Given the description of an element on the screen output the (x, y) to click on. 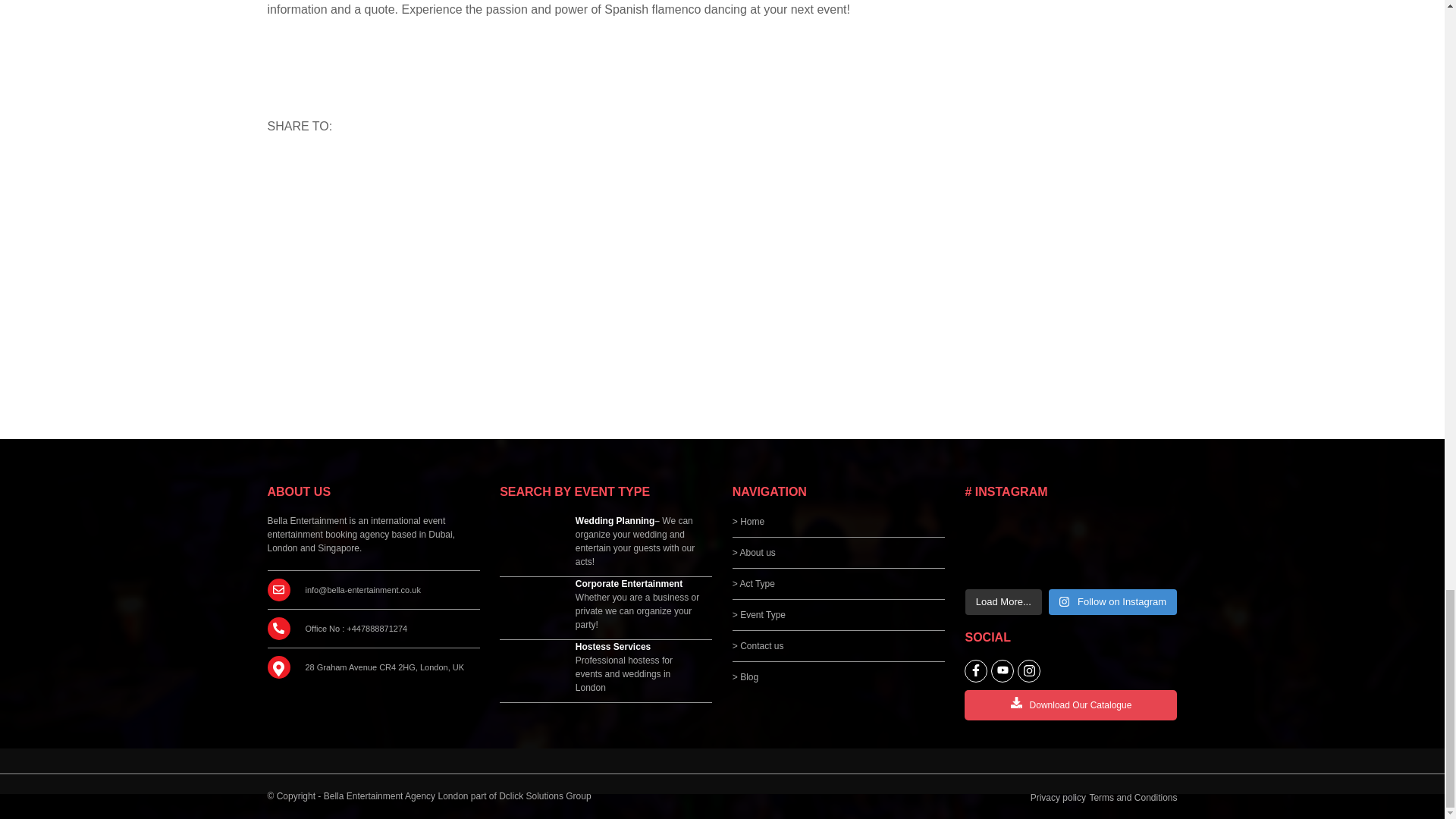
Facebook (352, 168)
Twitter (387, 168)
Follow by Email (319, 168)
RSS (284, 168)
